Given the description of an element on the screen output the (x, y) to click on. 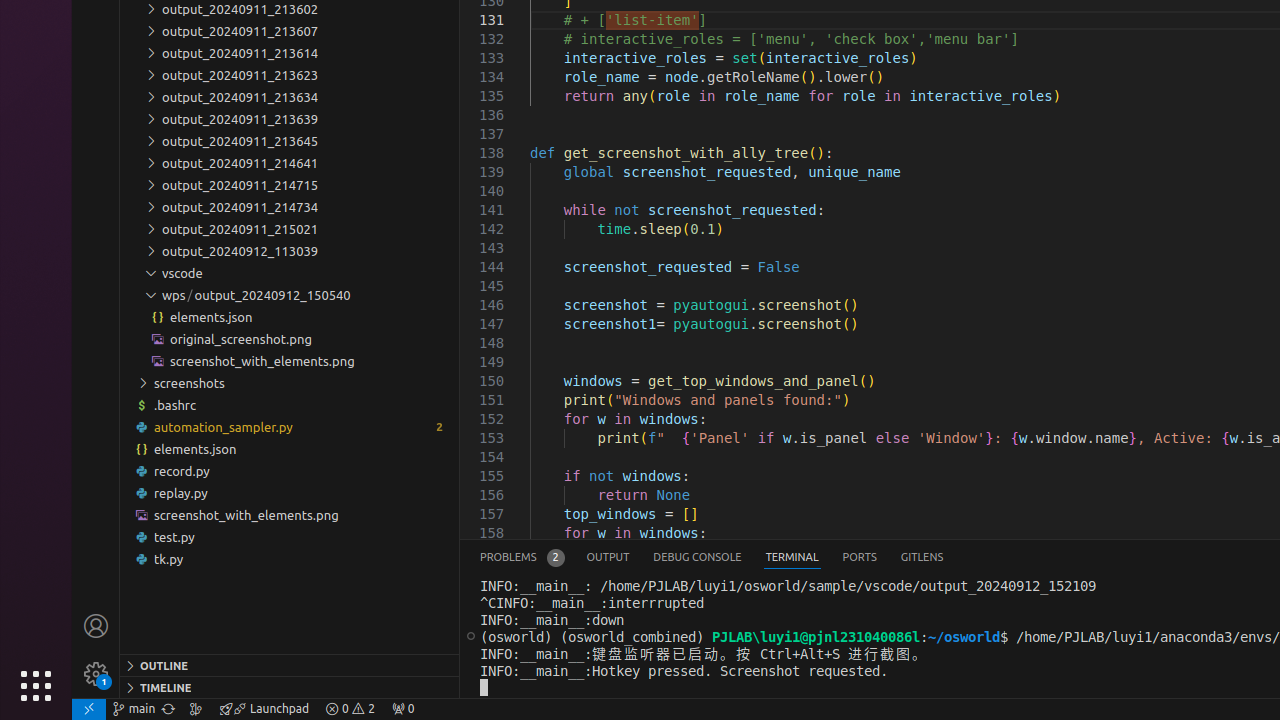
tk.py Element type: tree-item (289, 559)
test.py Element type: tree-item (289, 537)
.bashrc Element type: tree-item (289, 404)
output_20240911_214734 Element type: tree-item (289, 206)
Show the GitLens Commit Graph Element type: push-button (196, 709)
